Given the description of an element on the screen output the (x, y) to click on. 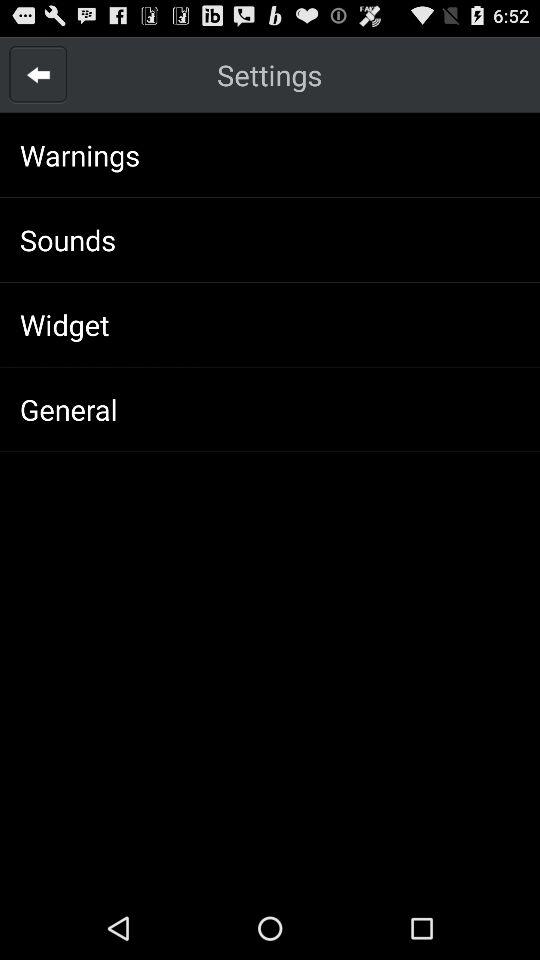
select the item above the sounds icon (79, 154)
